Given the description of an element on the screen output the (x, y) to click on. 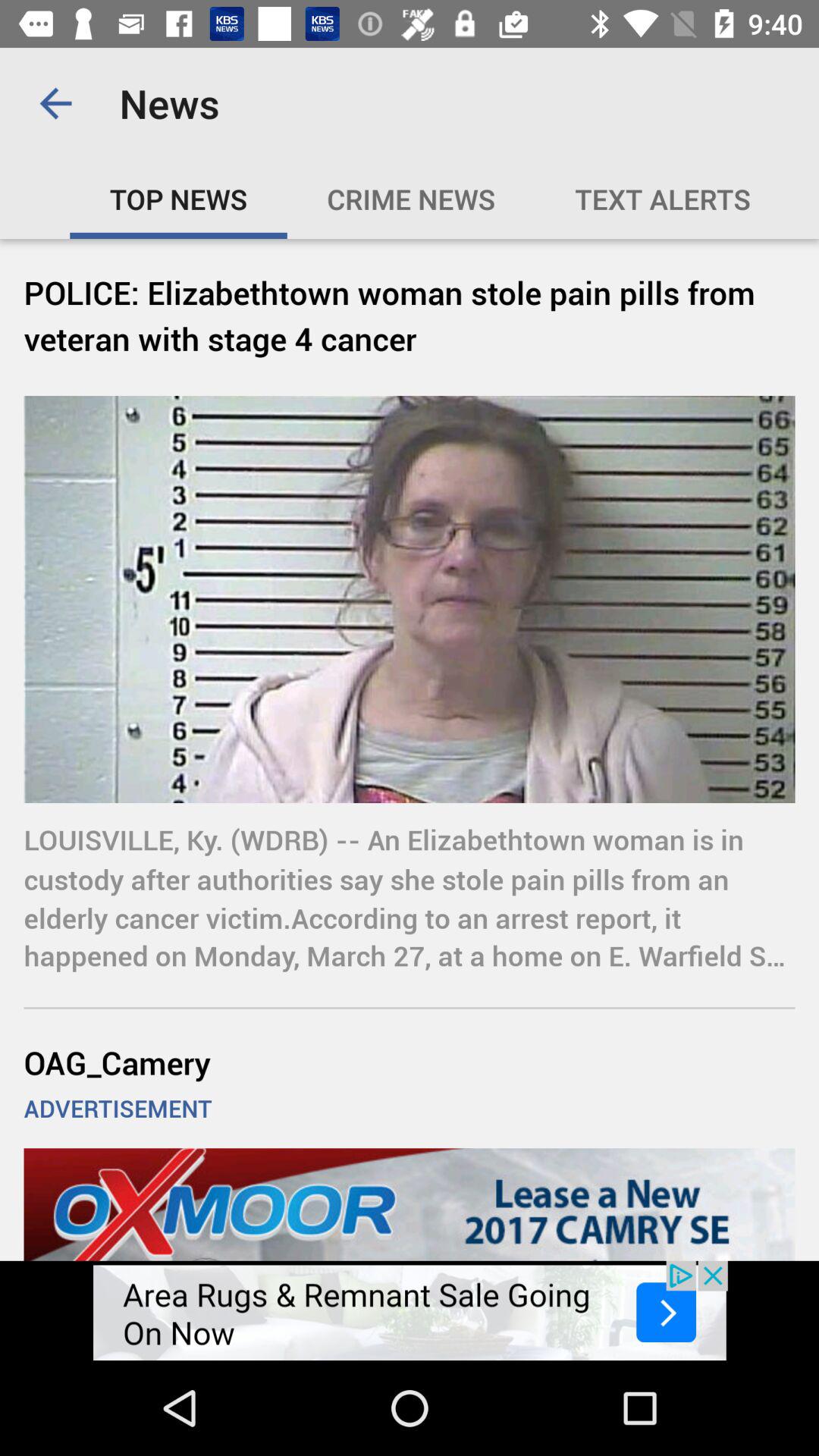
choose app next to the news icon (55, 103)
